Given the description of an element on the screen output the (x, y) to click on. 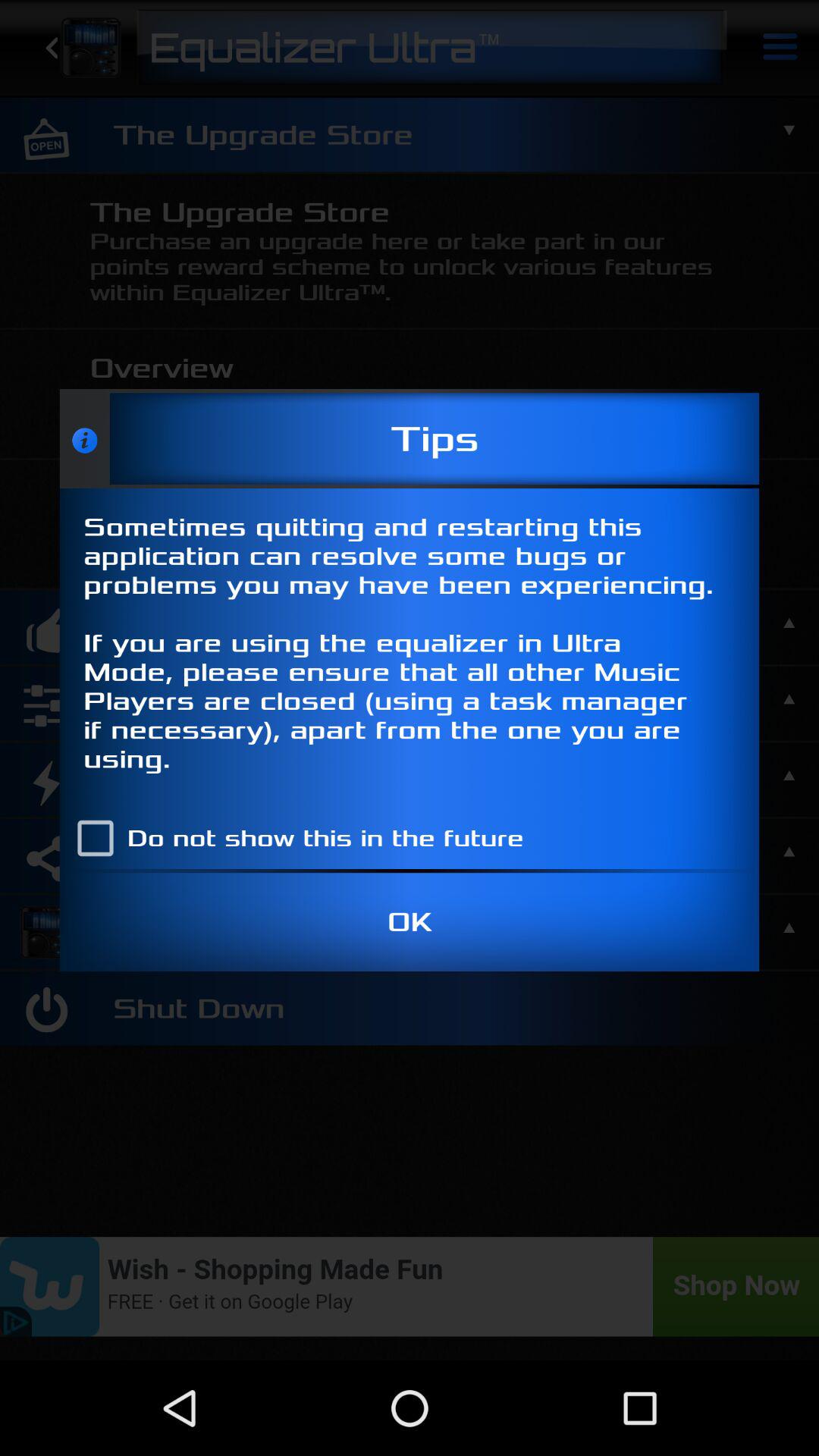
click icon below the tips item (409, 647)
